Given the description of an element on the screen output the (x, y) to click on. 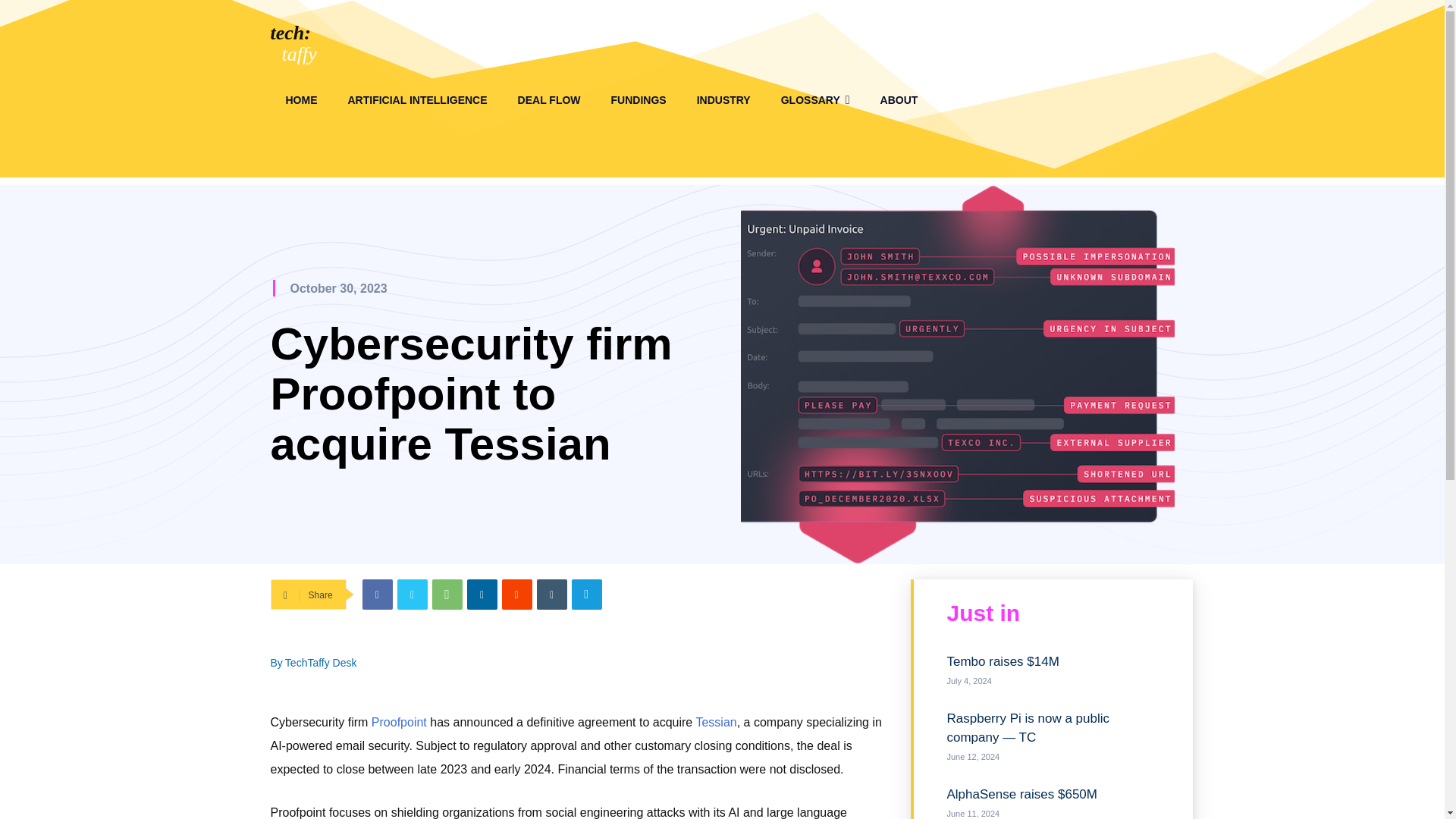
INDUSTRY (723, 99)
tech: (289, 33)
ReddIt (517, 594)
WhatsApp (447, 594)
Tessian (715, 721)
Tumblr (552, 594)
FUNDINGS (638, 99)
GLOSSARY (814, 99)
Telegram (587, 594)
TechTaffy Desk (320, 662)
Proofpoint (398, 721)
ARTIFICIAL INTELLIGENCE (416, 99)
HOME (300, 99)
DEAL FLOW (548, 99)
Linkedin (482, 594)
